Given the description of an element on the screen output the (x, y) to click on. 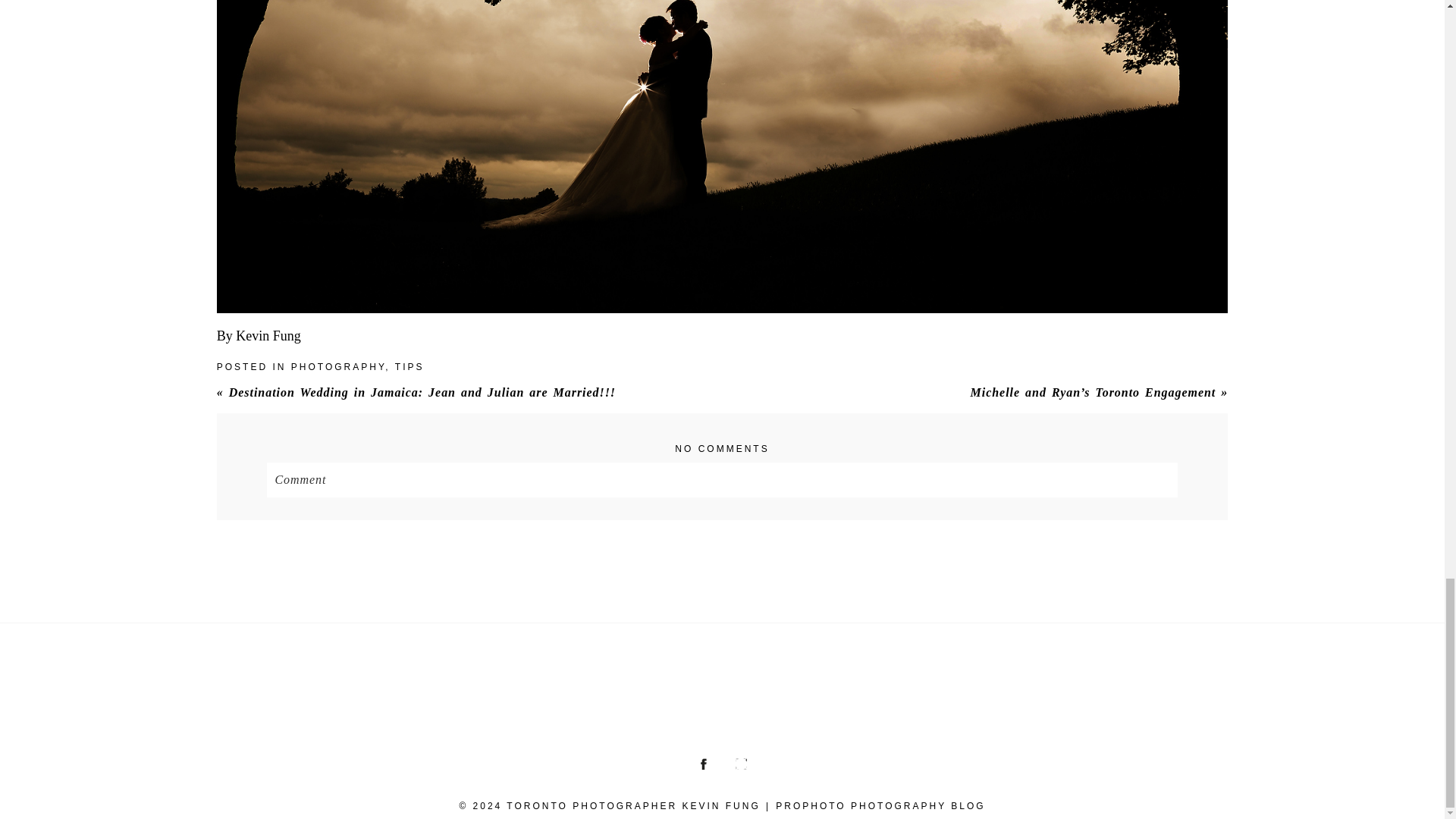
PROPHOTO PHOTOGRAPHY BLOG (880, 805)
ProPhoto Photography Theme (880, 805)
PHOTOGRAPHY (338, 366)
TIPS (409, 366)
